Given the description of an element on the screen output the (x, y) to click on. 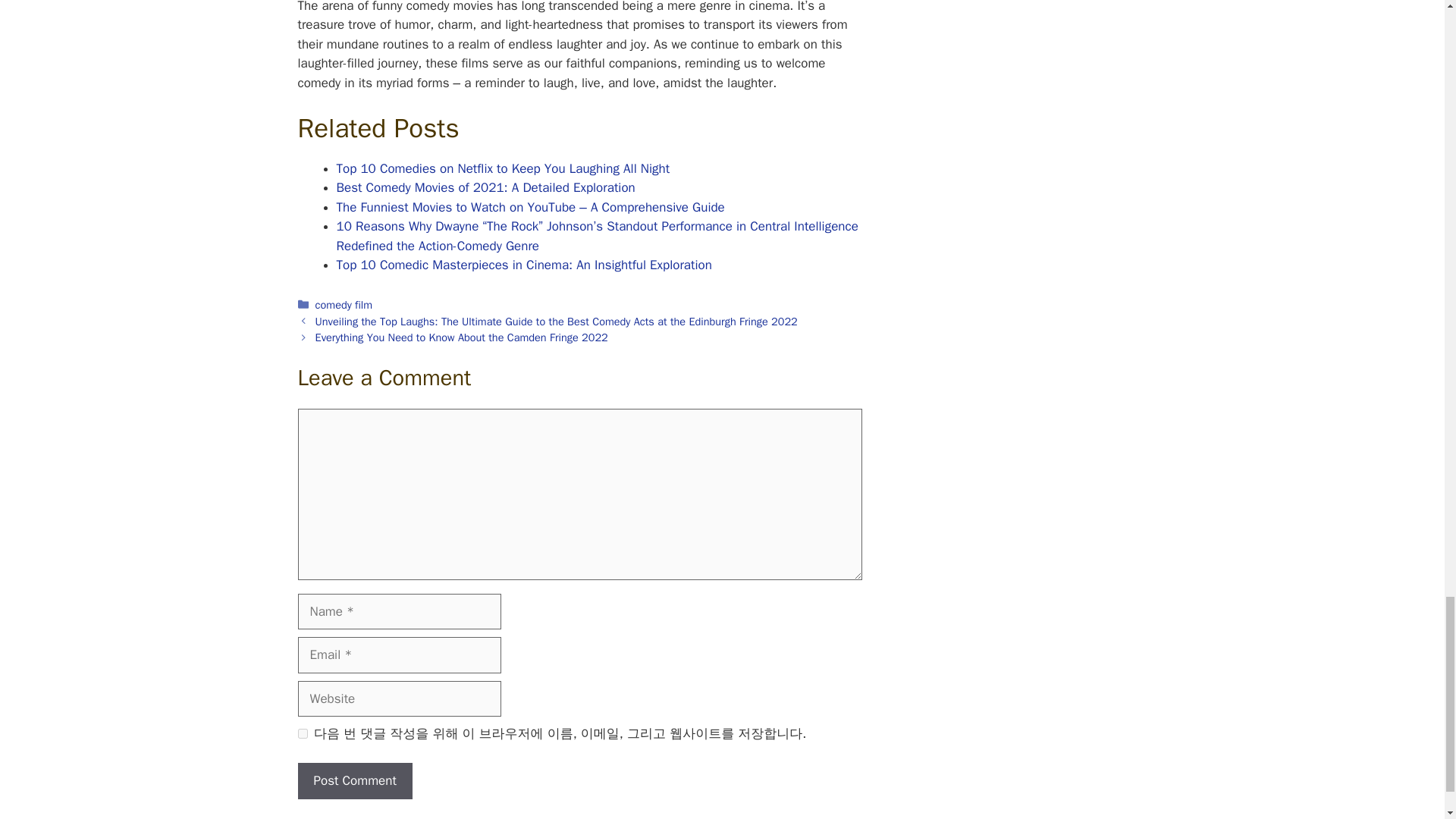
Everything You Need to Know About the Camden Fringe 2022 (461, 336)
Best Comedy Movies of 2021: A Detailed Exploration (485, 187)
Top 10 Comedies on Netflix to Keep You Laughing All Night (502, 168)
yes (302, 733)
comedy film (343, 305)
Post Comment (354, 780)
Post Comment (354, 780)
